Given the description of an element on the screen output the (x, y) to click on. 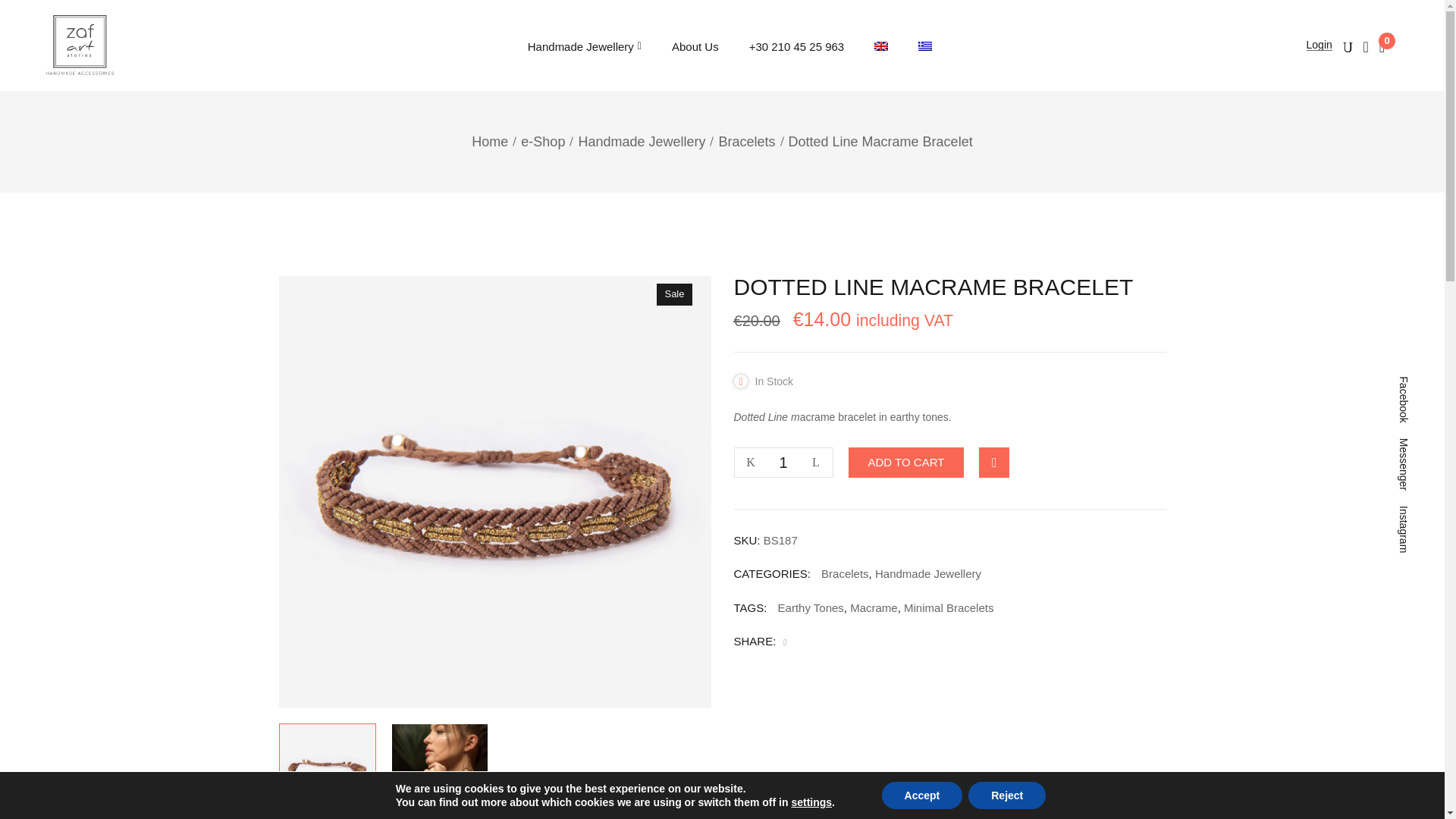
1 (783, 461)
Bracelets (745, 141)
Login (1319, 44)
Dotted-line-Macrame-Bracelet (326, 771)
Handmade Jewellery (928, 573)
Dotted-line-Macrame-Bracelet-2 (438, 771)
Bracelets (845, 573)
Earthy Tones (810, 607)
Handmade Jewellery (641, 141)
ADD TO CART (905, 462)
Facebook (1420, 382)
About Us (695, 47)
Facebook (788, 642)
Minimal Bracelets (948, 607)
Handmade Jewellery (584, 47)
